Given the description of an element on the screen output the (x, y) to click on. 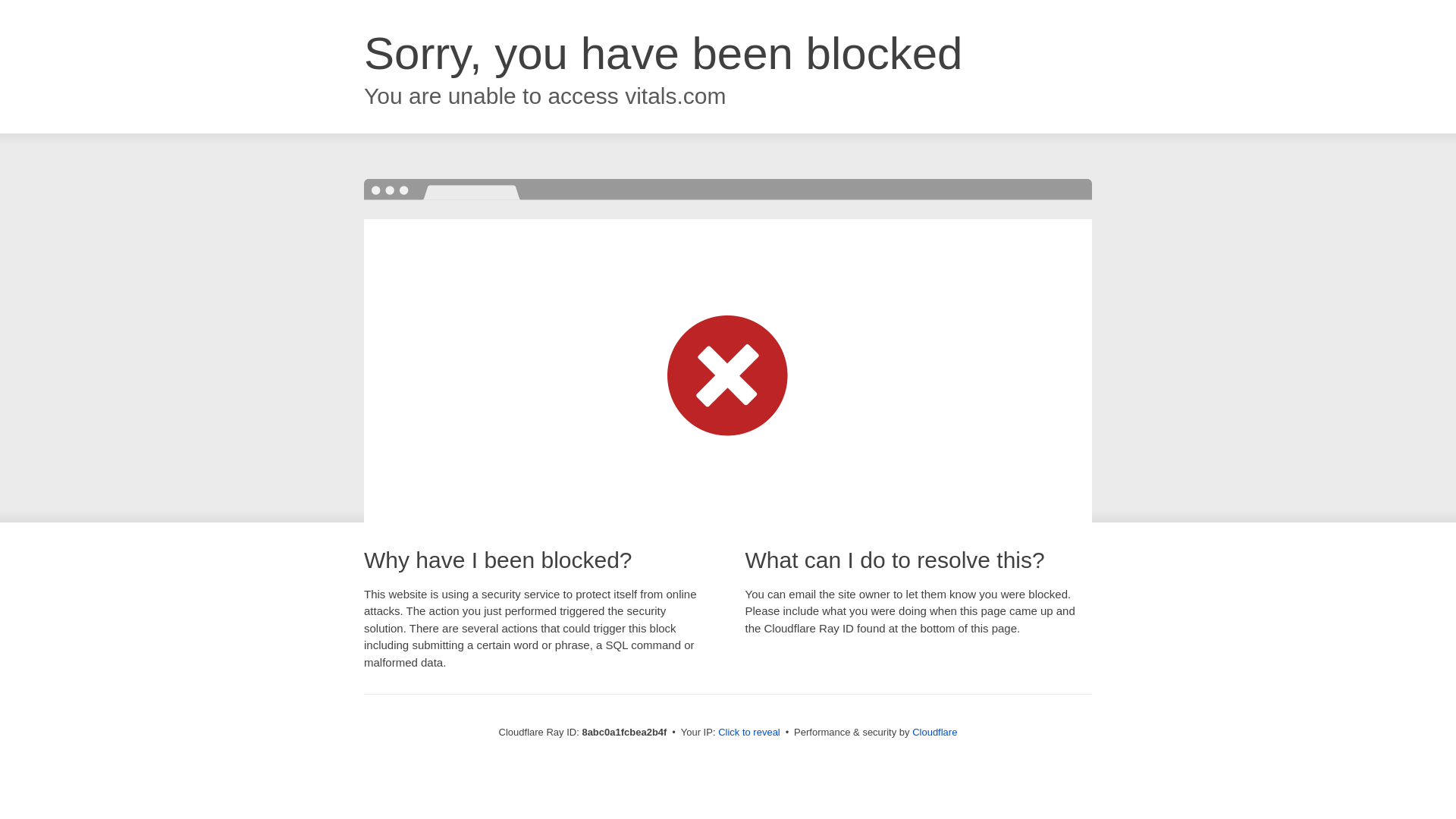
Click to reveal (748, 732)
Cloudflare (934, 731)
